Given the description of an element on the screen output the (x, y) to click on. 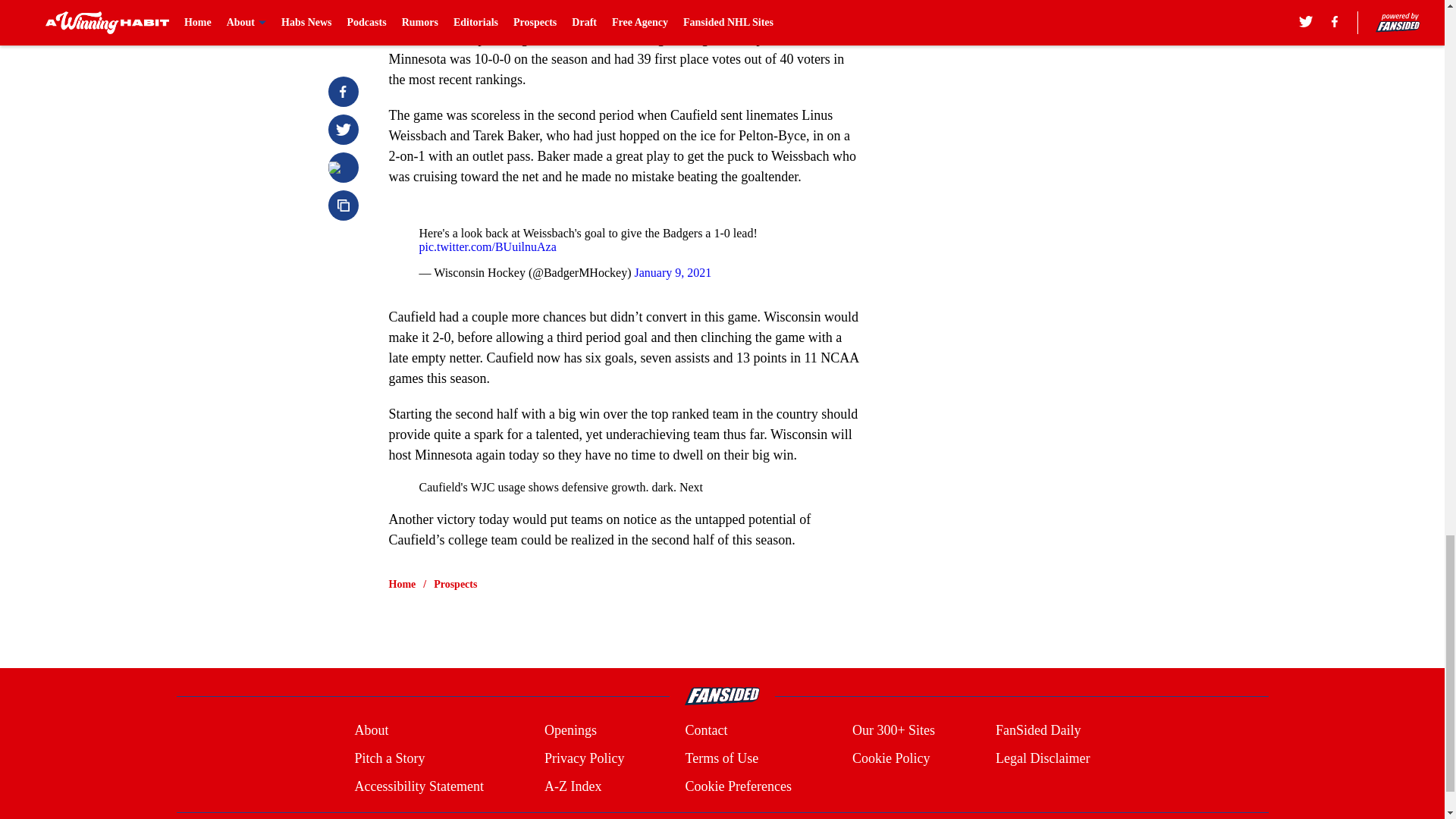
Home (401, 584)
January 9, 2021 (672, 272)
Contact (705, 730)
A-Z Index (572, 786)
About (370, 730)
Openings (570, 730)
Cookie Policy (890, 758)
Cookie Preferences (737, 786)
Pitch a Story (389, 758)
Accessibility Statement (418, 786)
